Given the description of an element on the screen output the (x, y) to click on. 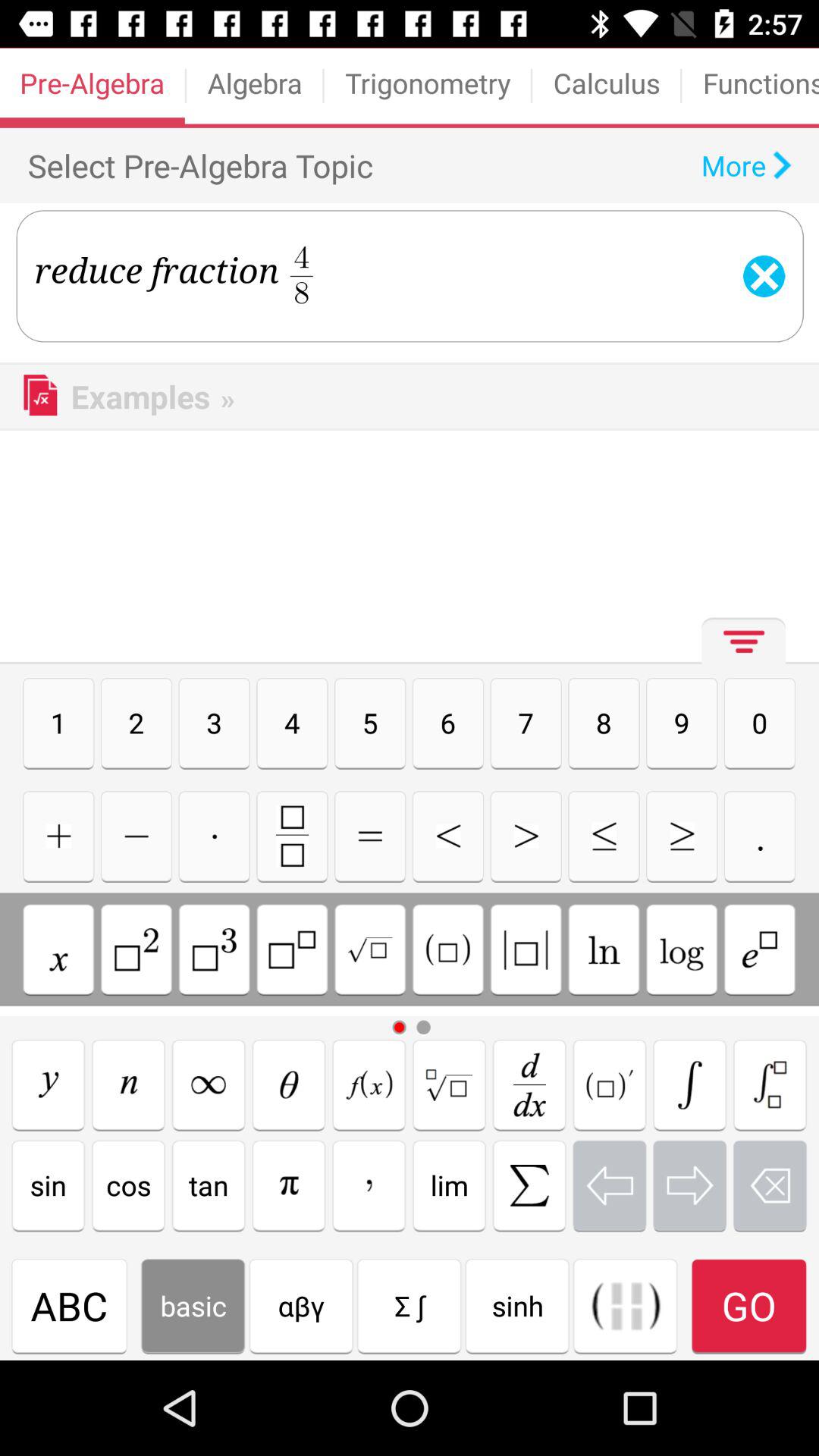
go to log option (681, 949)
